Given the description of an element on the screen output the (x, y) to click on. 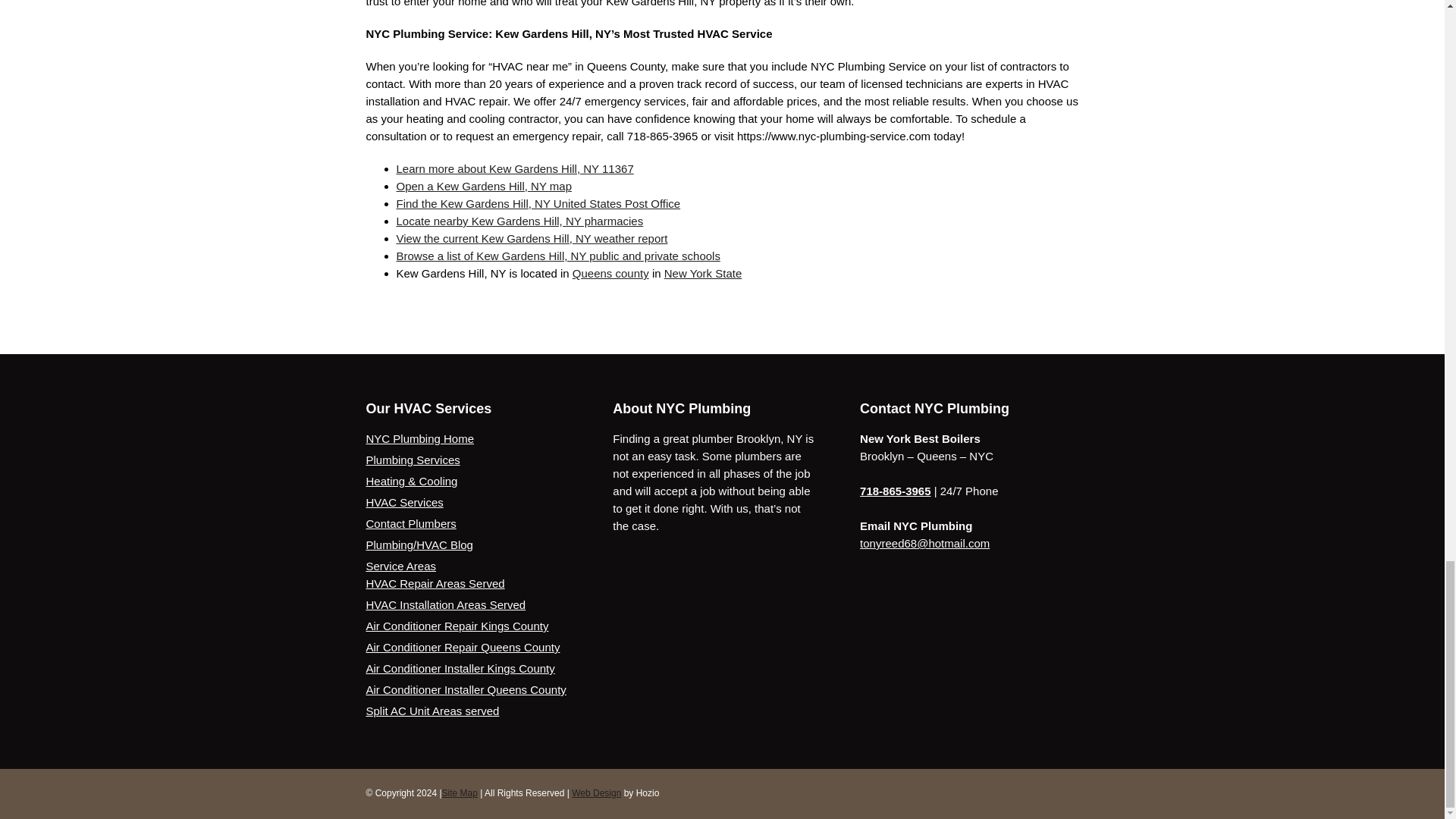
Open a Kew Gardens Hill, NY map (484, 185)
Learn more about Kew Gardens Hill, NY 11367 (514, 168)
Find the Kew Gardens Hill, NY United States Post Office (537, 203)
Locate nearby Kew Gardens Hill, NY pharmacies (519, 220)
